Given the description of an element on the screen output the (x, y) to click on. 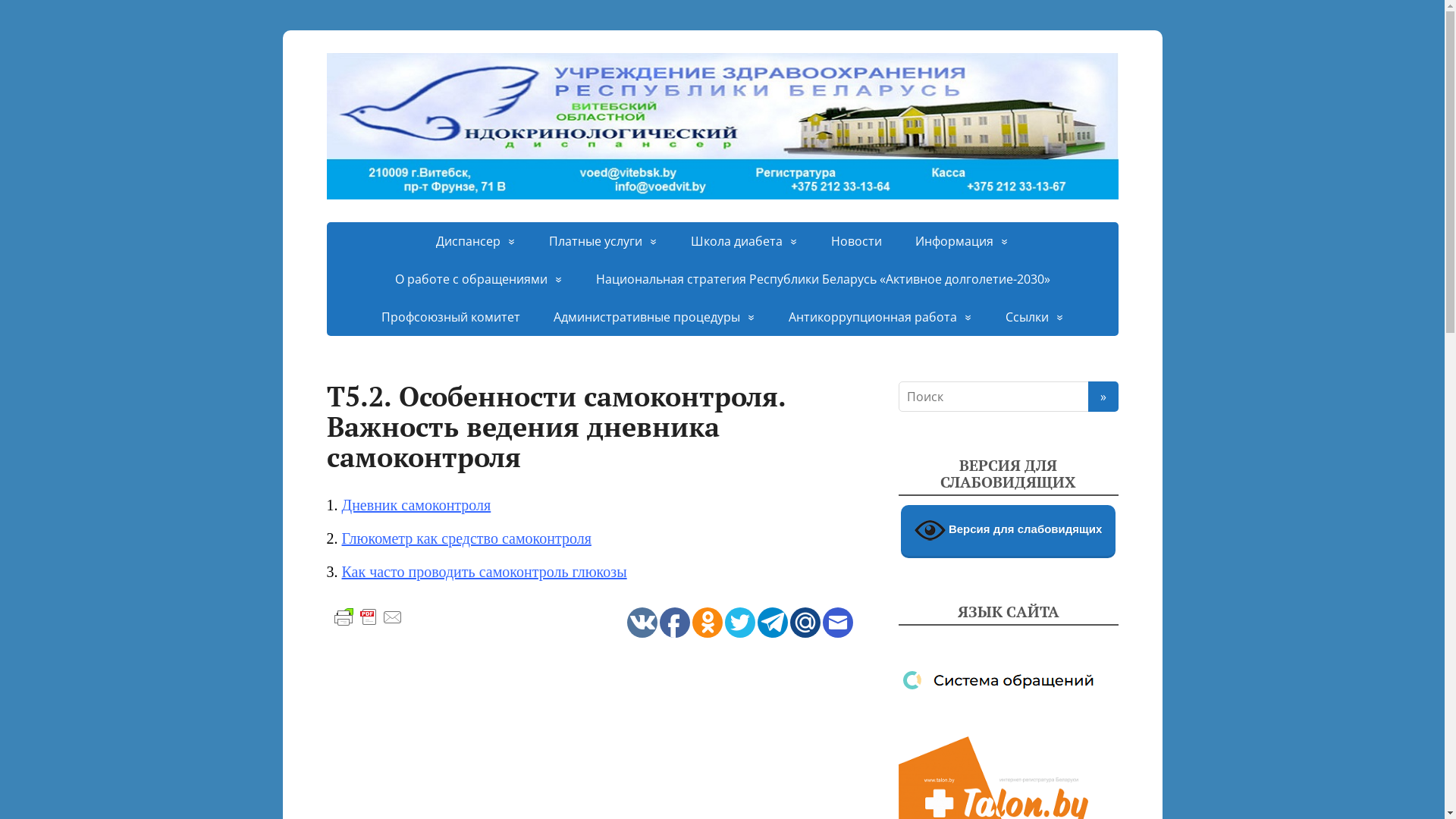
Printer Friendly, PDF & Email Element type: hover (367, 615)
